Given the description of an element on the screen output the (x, y) to click on. 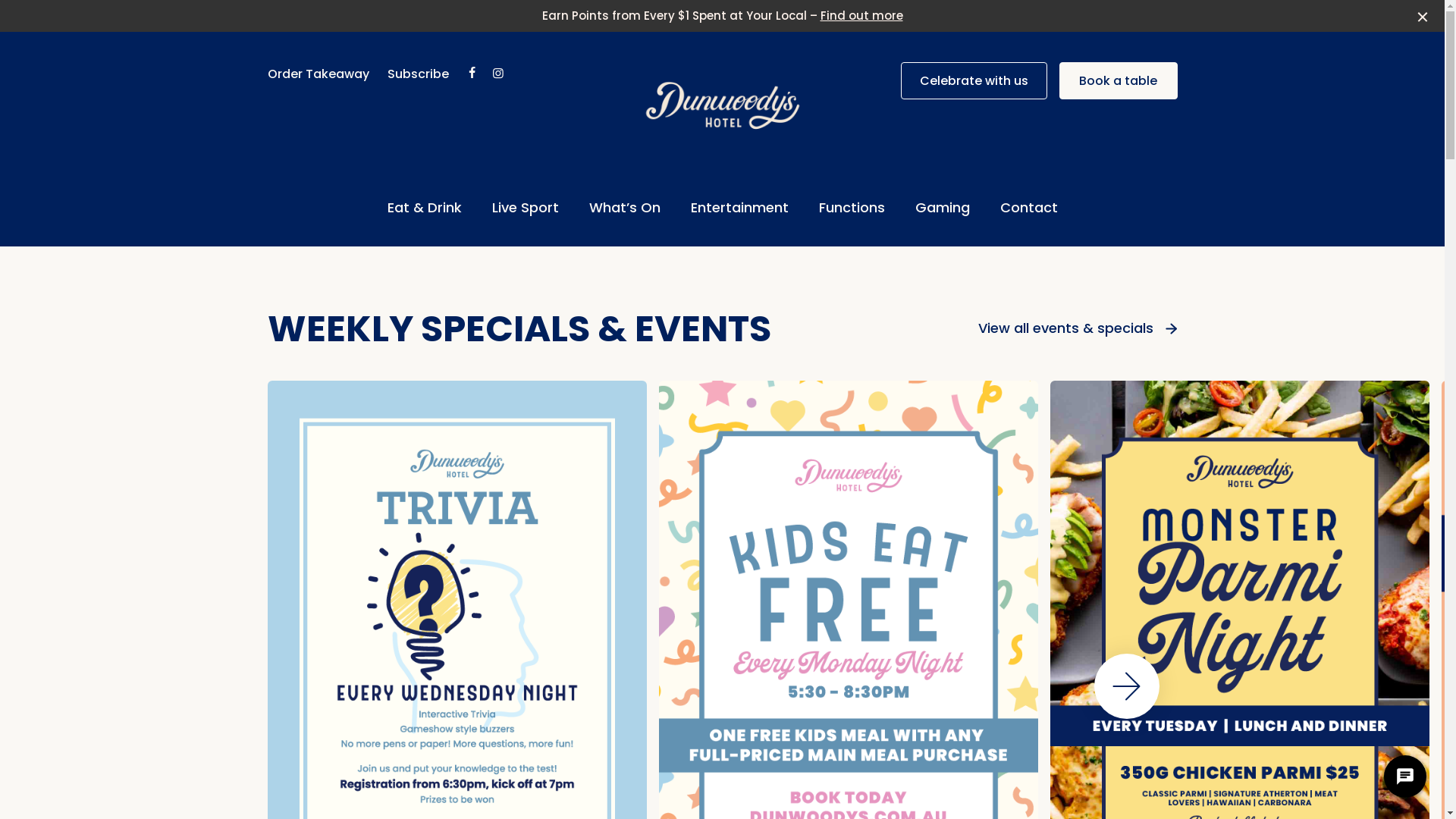
Gaming Element type: text (941, 207)
Subscribe Element type: text (417, 73)
View all events & specials Element type: text (1077, 328)
Contact Element type: text (1028, 207)
Order Takeaway Element type: text (317, 73)
Live Sport Element type: text (524, 207)
Book a table Element type: text (1117, 80)
Celebrate with us Element type: text (973, 80)
Functions Element type: text (851, 207)
Genesys Messenger Launcher Element type: hover (1404, 779)
Find out more Element type: text (861, 15)
Eat & Drink Element type: text (423, 207)
Entertainment Element type: text (738, 207)
